Given the description of an element on the screen output the (x, y) to click on. 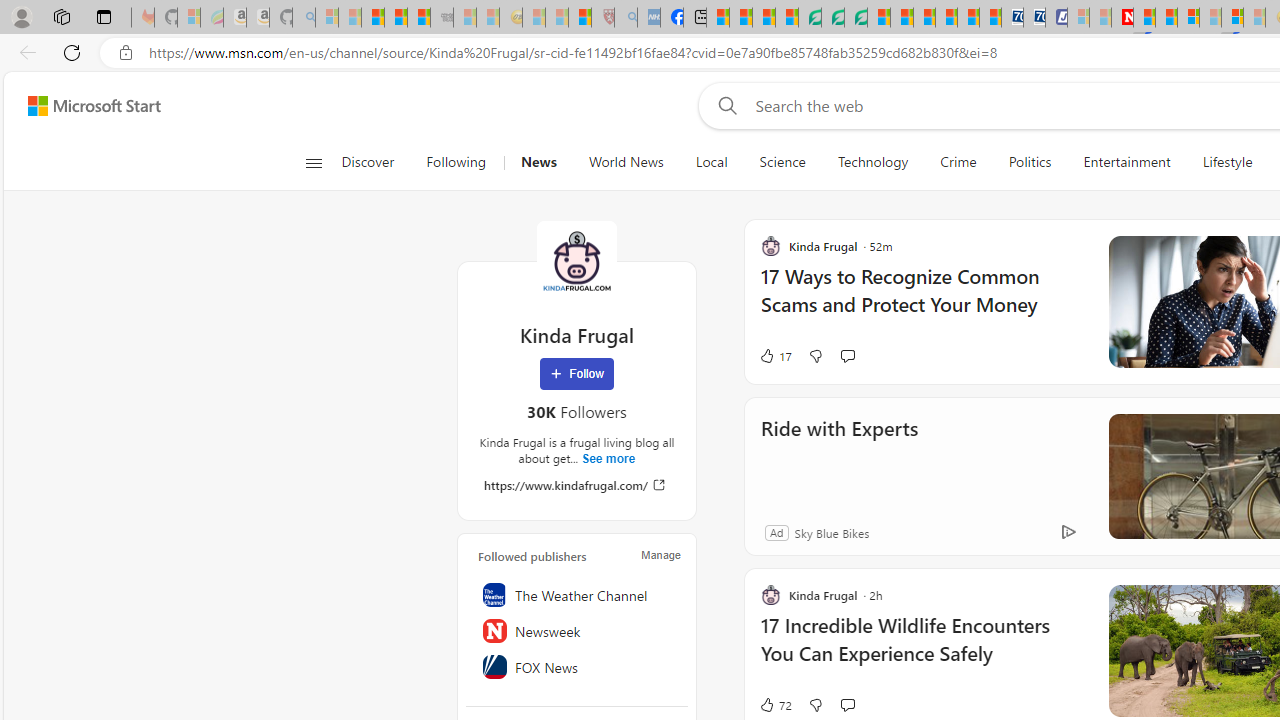
World News (625, 162)
The Weather Channel (577, 595)
Microsoft account | Privacy - Sleeping (1078, 17)
Skip to footer (82, 105)
World - MSN (763, 17)
Politics (1029, 162)
Cheap Hotels - Save70.com (1034, 17)
New Report Confirms 2023 Was Record Hot | Watch (419, 17)
Discover (375, 162)
See more (608, 458)
72 Like (775, 704)
14 Common Myths Debunked By Scientific Facts (1166, 17)
